Given the description of an element on the screen output the (x, y) to click on. 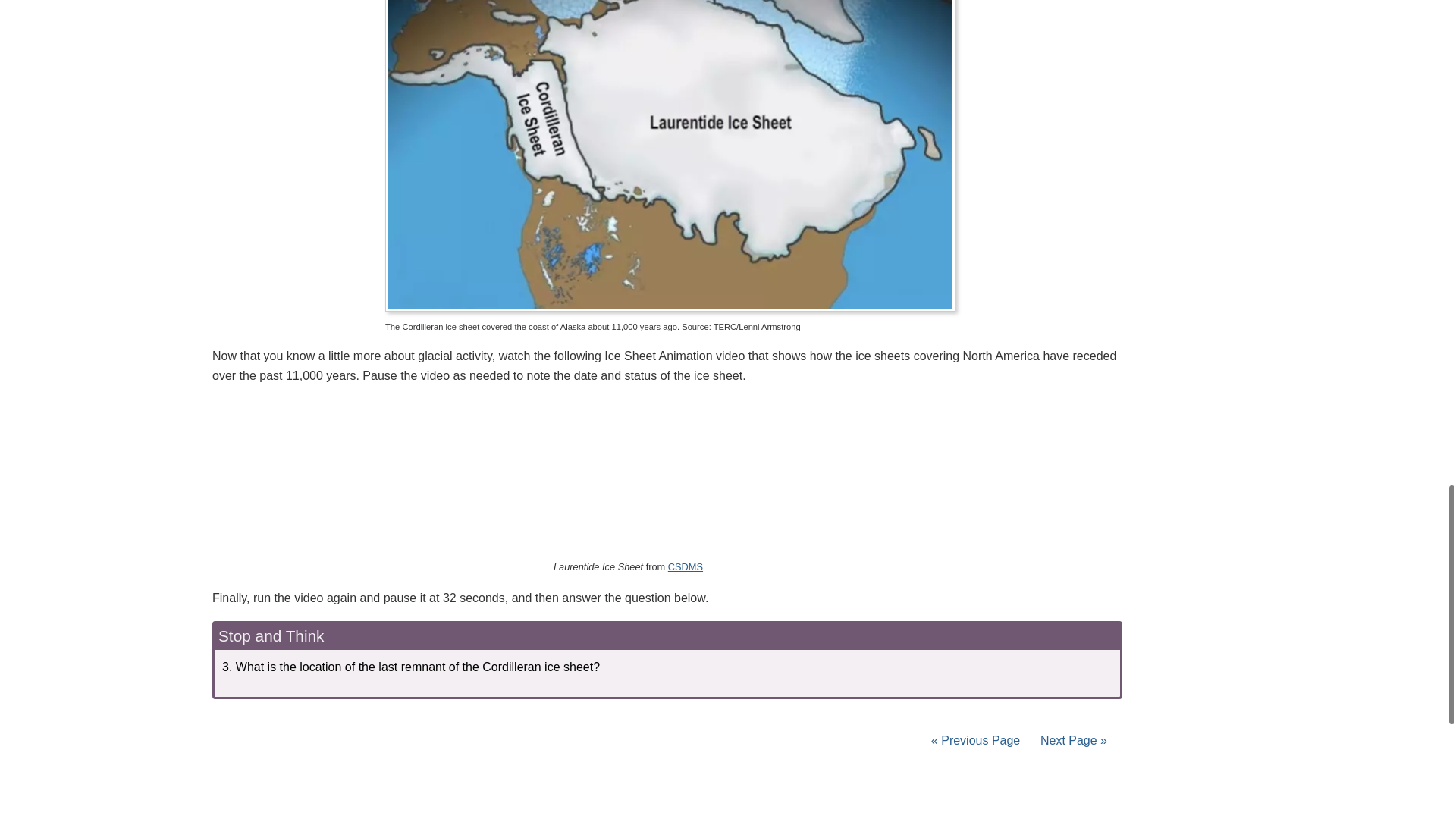
CSDMS (685, 566)
Laurentide Ice Sheet (654, 473)
